Given the description of an element on the screen output the (x, y) to click on. 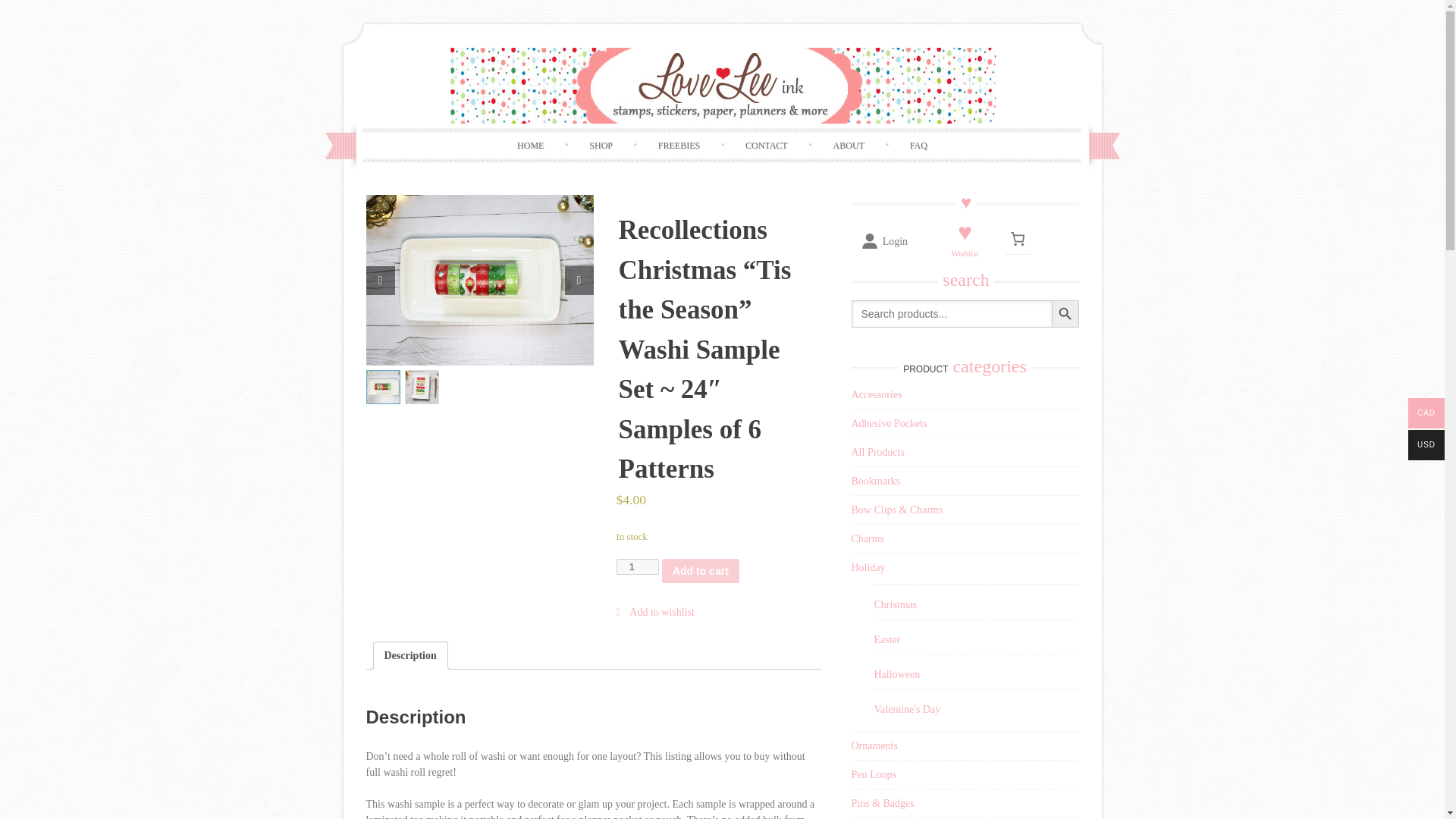
Add to cart (700, 570)
FREEBIES (678, 145)
1 (636, 566)
FAQ (917, 145)
SHOP (600, 145)
Login (882, 240)
Search Button (1064, 313)
Add to wishlist (654, 612)
ABOUT (848, 145)
Wishlist (964, 252)
Description (409, 655)
Adhesive Pockets (888, 423)
HOME (530, 145)
Accessories (875, 394)
